Given the description of an element on the screen output the (x, y) to click on. 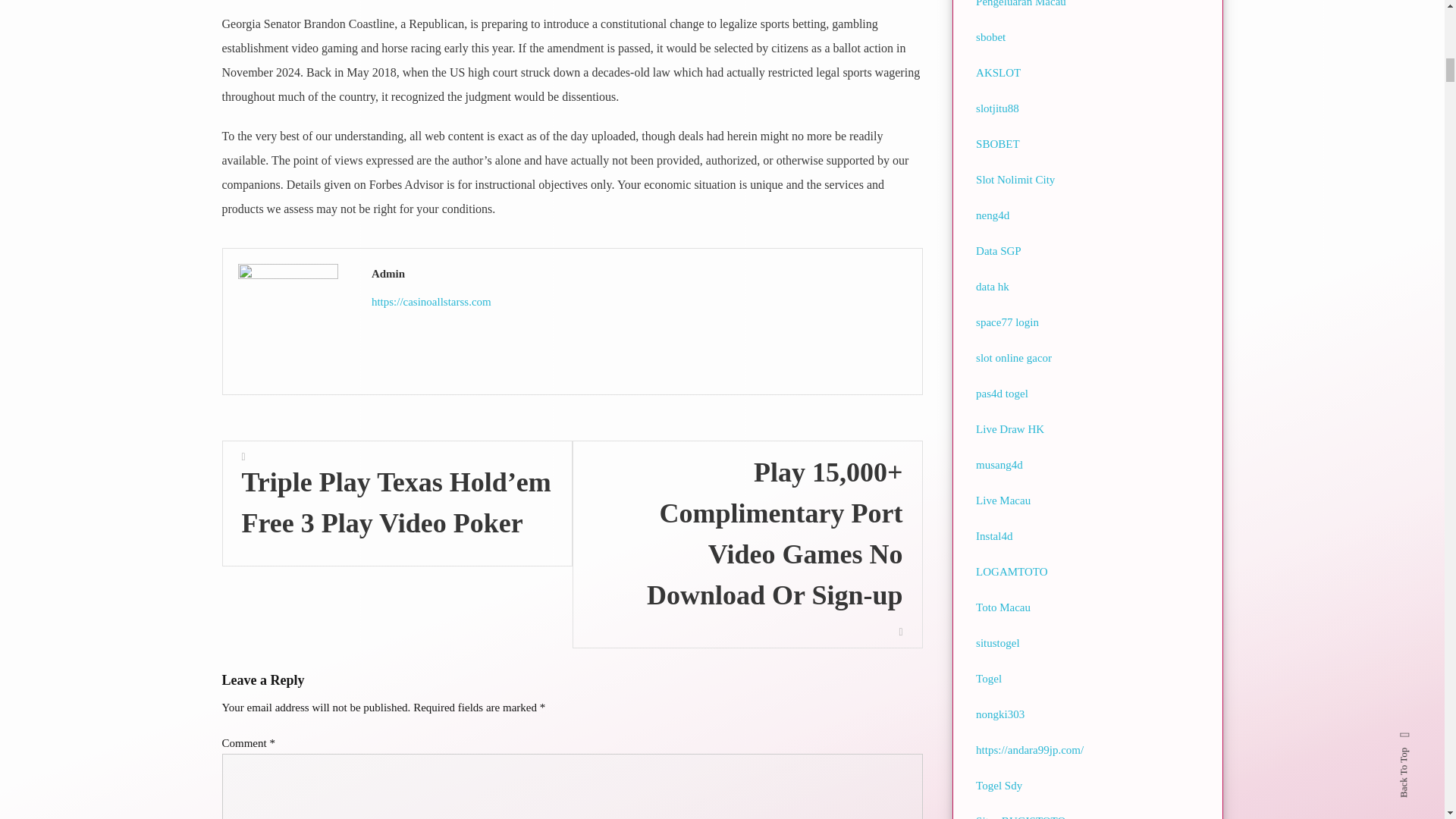
Admin (639, 273)
